Given the description of an element on the screen output the (x, y) to click on. 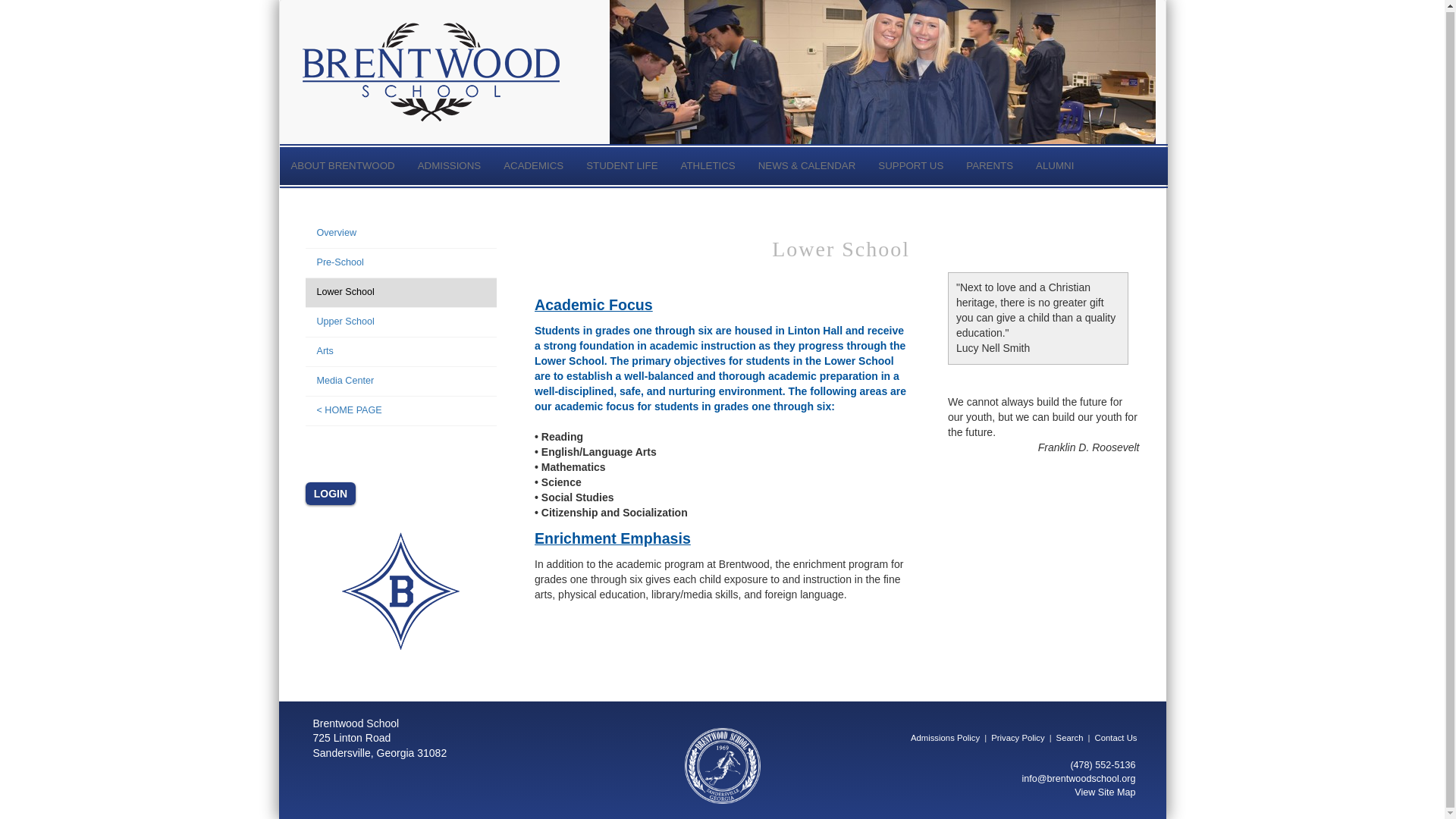
ADMISSIONS (449, 166)
ACADEMICS (533, 166)
STUDENT LIFE (621, 166)
ABOUT BRENTWOOD (342, 166)
